Given the description of an element on the screen output the (x, y) to click on. 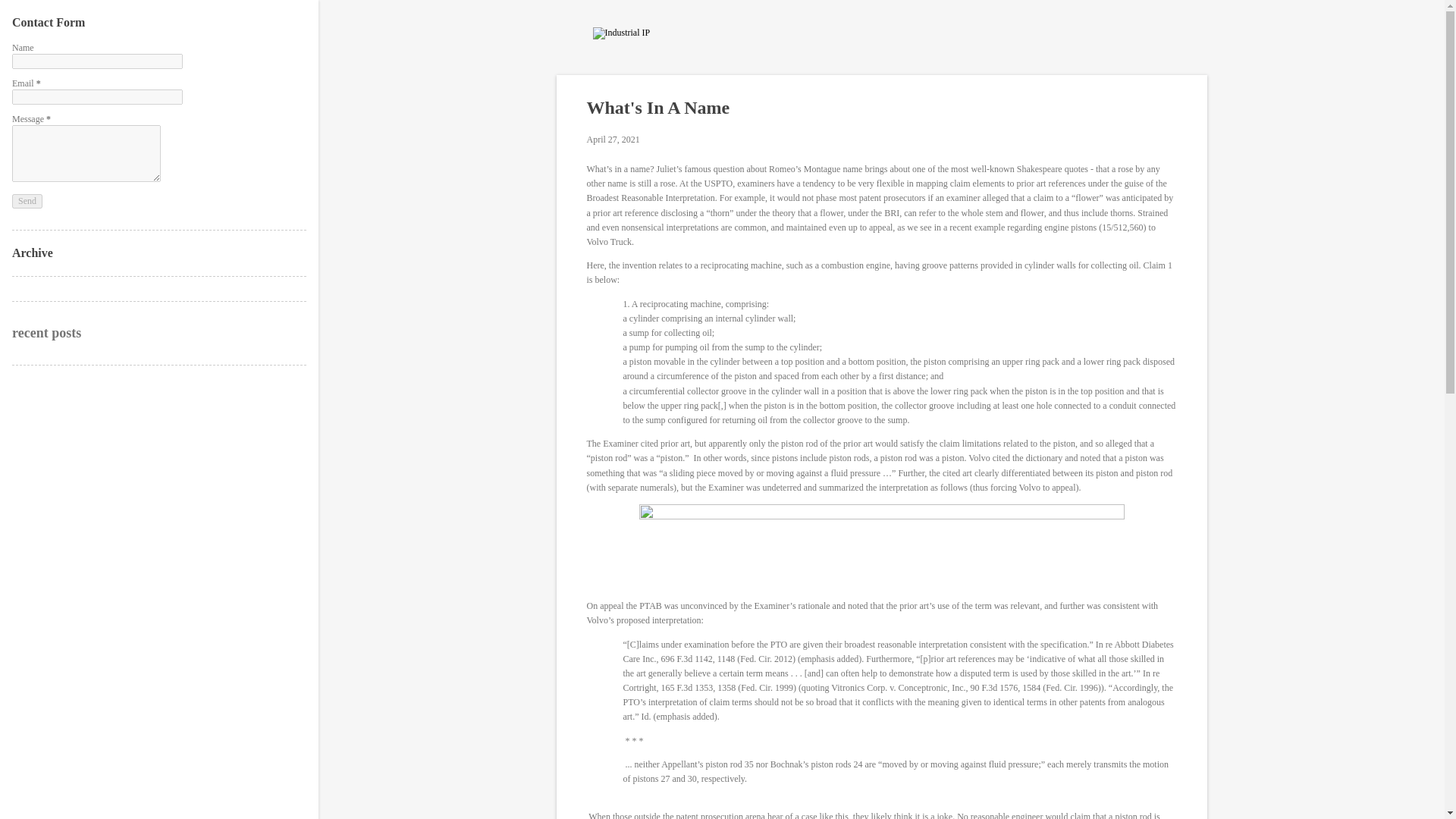
permanent link (613, 139)
Send (26, 201)
April 27, 2021 (613, 139)
